Given the description of an element on the screen output the (x, y) to click on. 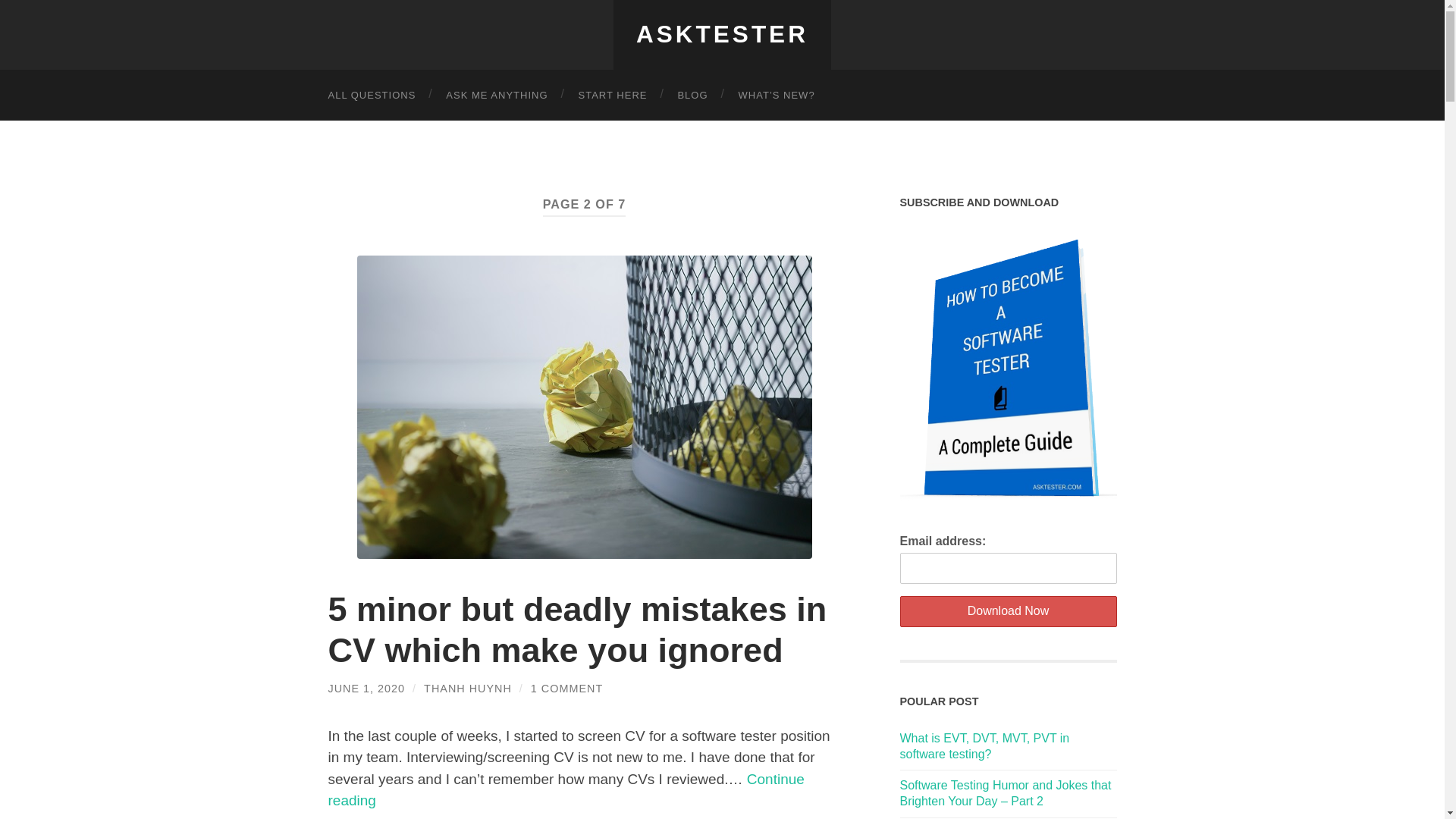
Continue reading (565, 790)
1 COMMENT (566, 688)
Download Now (1007, 611)
5 minor but deadly mistakes in CV which make you ignored (577, 629)
START HERE (612, 94)
BLOG (692, 94)
THANH HUYNH (467, 688)
JUNE 1, 2020 (365, 688)
Posts by Thanh Huynh (467, 688)
ASKTESTER (722, 33)
